Given the description of an element on the screen output the (x, y) to click on. 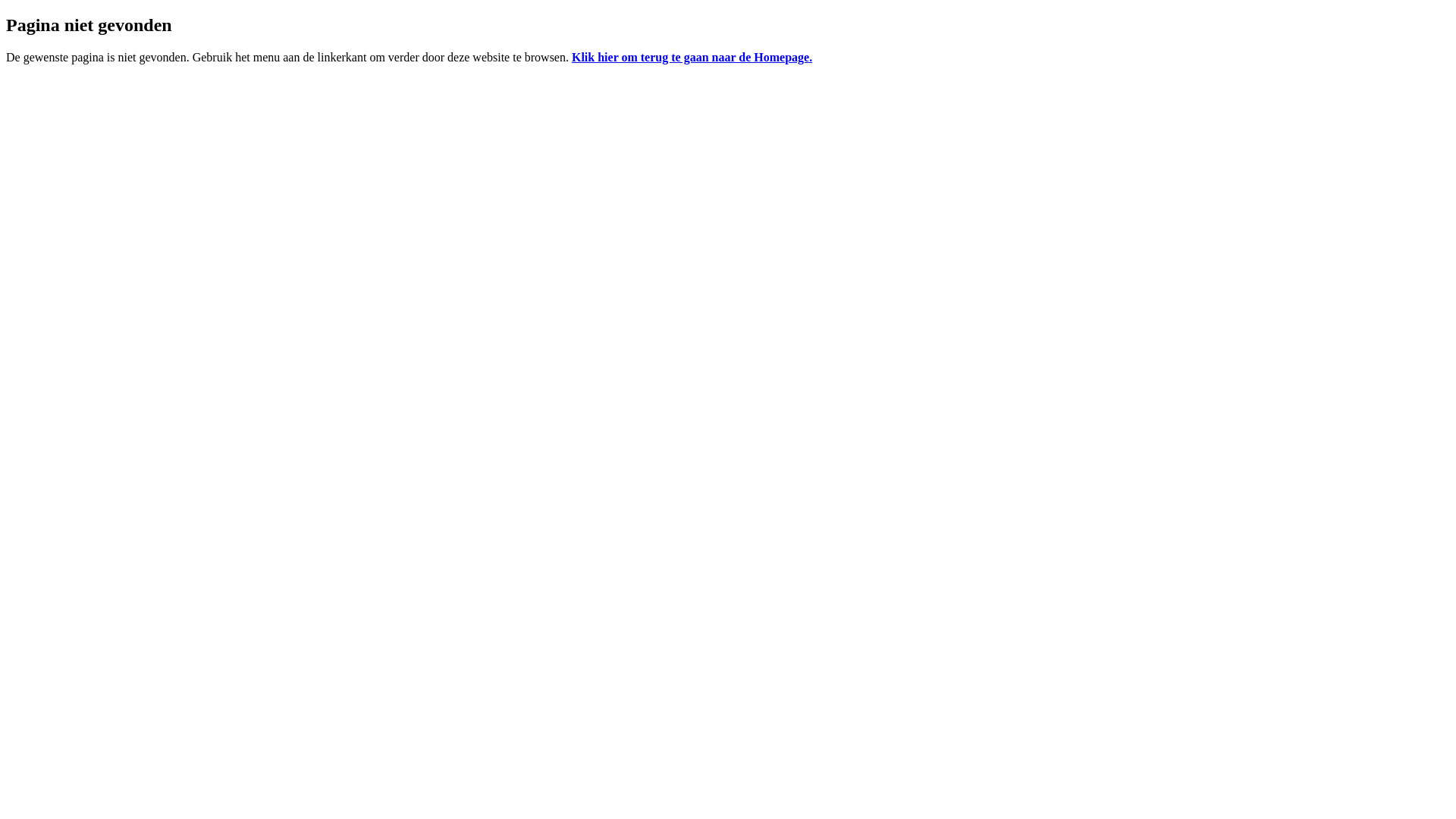
Klik hier om terug te gaan naar de Homepage. Element type: text (691, 56)
